Given the description of an element on the screen output the (x, y) to click on. 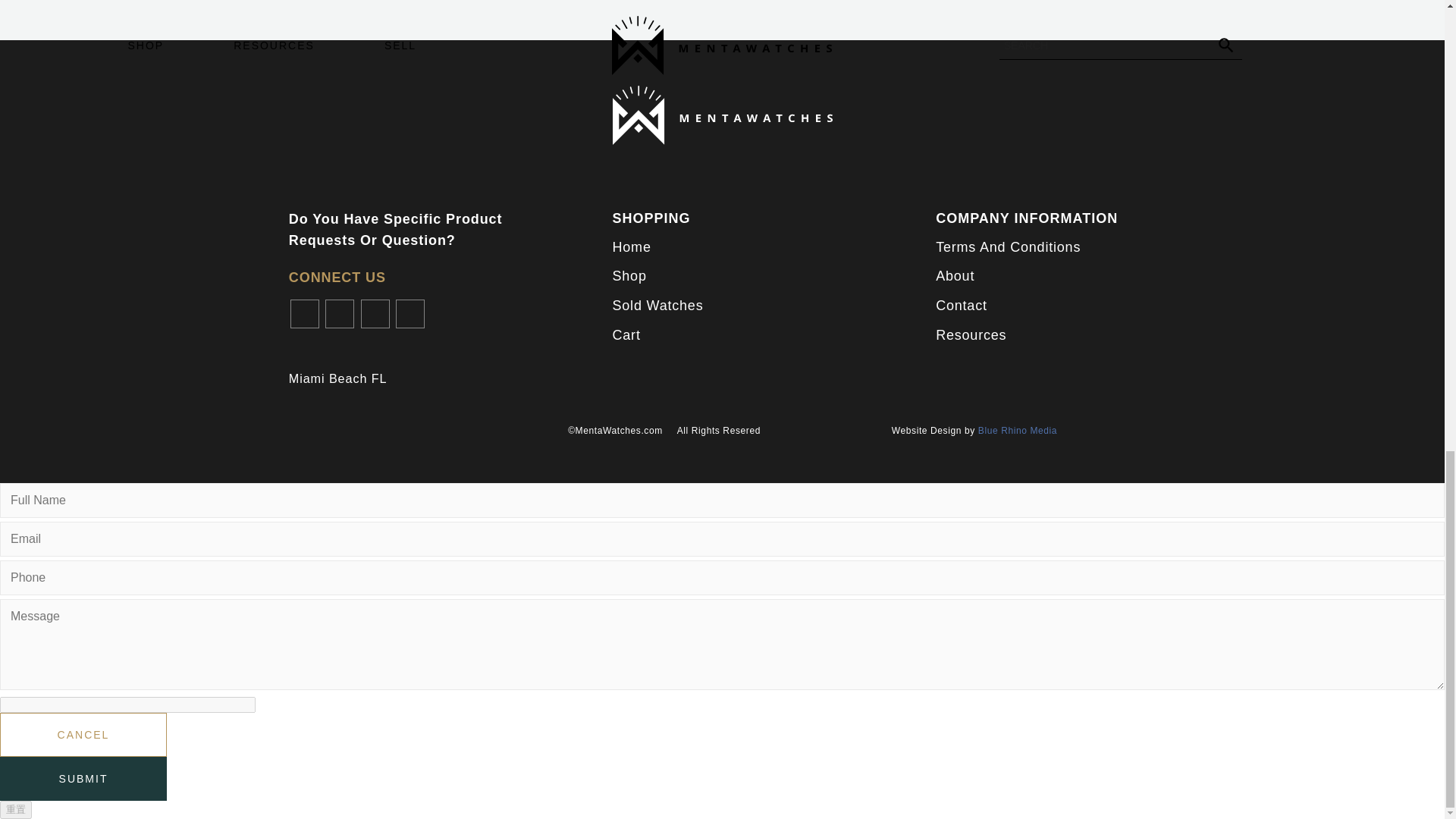
SUBMIT (83, 778)
